Given the description of an element on the screen output the (x, y) to click on. 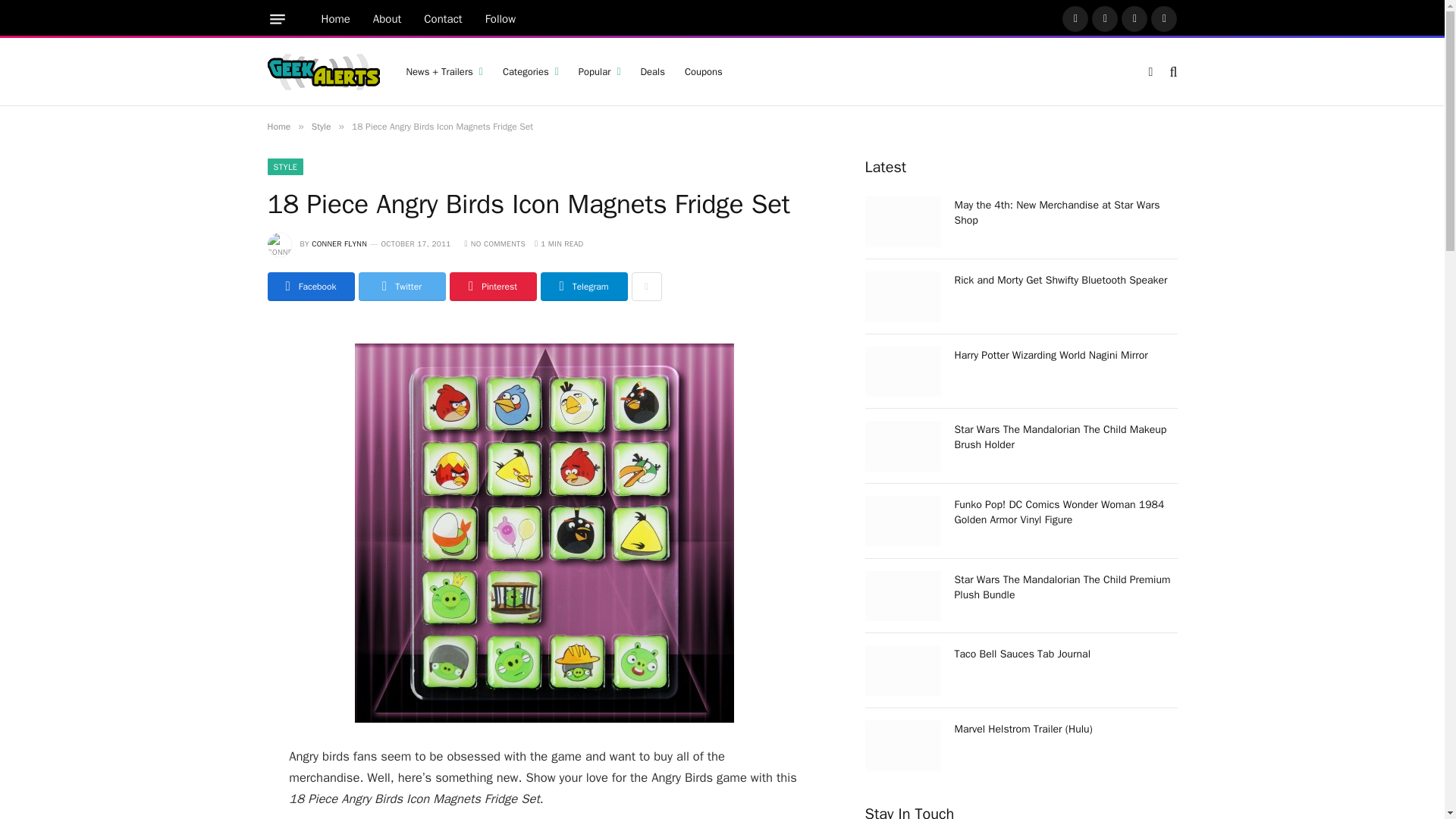
Pinterest (1134, 18)
Share on Facebook (309, 286)
Share on Telegram (583, 286)
GeekAlerts (322, 71)
Categories (531, 71)
Home (334, 19)
Follow (500, 19)
Switch to Dark Design - easier on eyes. (1149, 70)
Posts by Conner Flynn (338, 243)
About (386, 19)
